Given the description of an element on the screen output the (x, y) to click on. 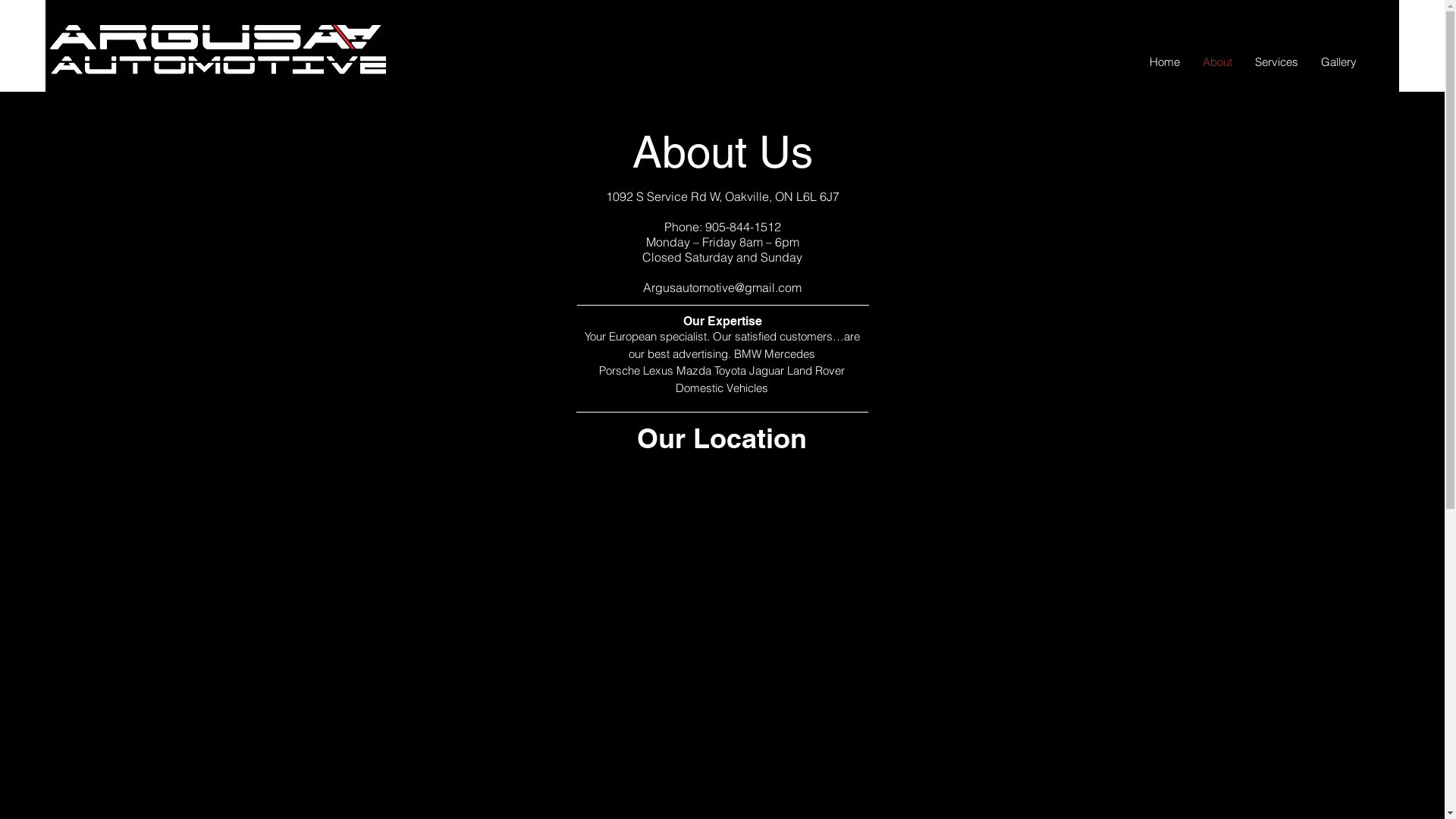
Gallery Element type: text (1338, 62)
Services Element type: text (1276, 62)
About Element type: text (1217, 62)
Argusautomotive@gmail.com Element type: text (722, 286)
Home Element type: text (1164, 62)
